Given the description of an element on the screen output the (x, y) to click on. 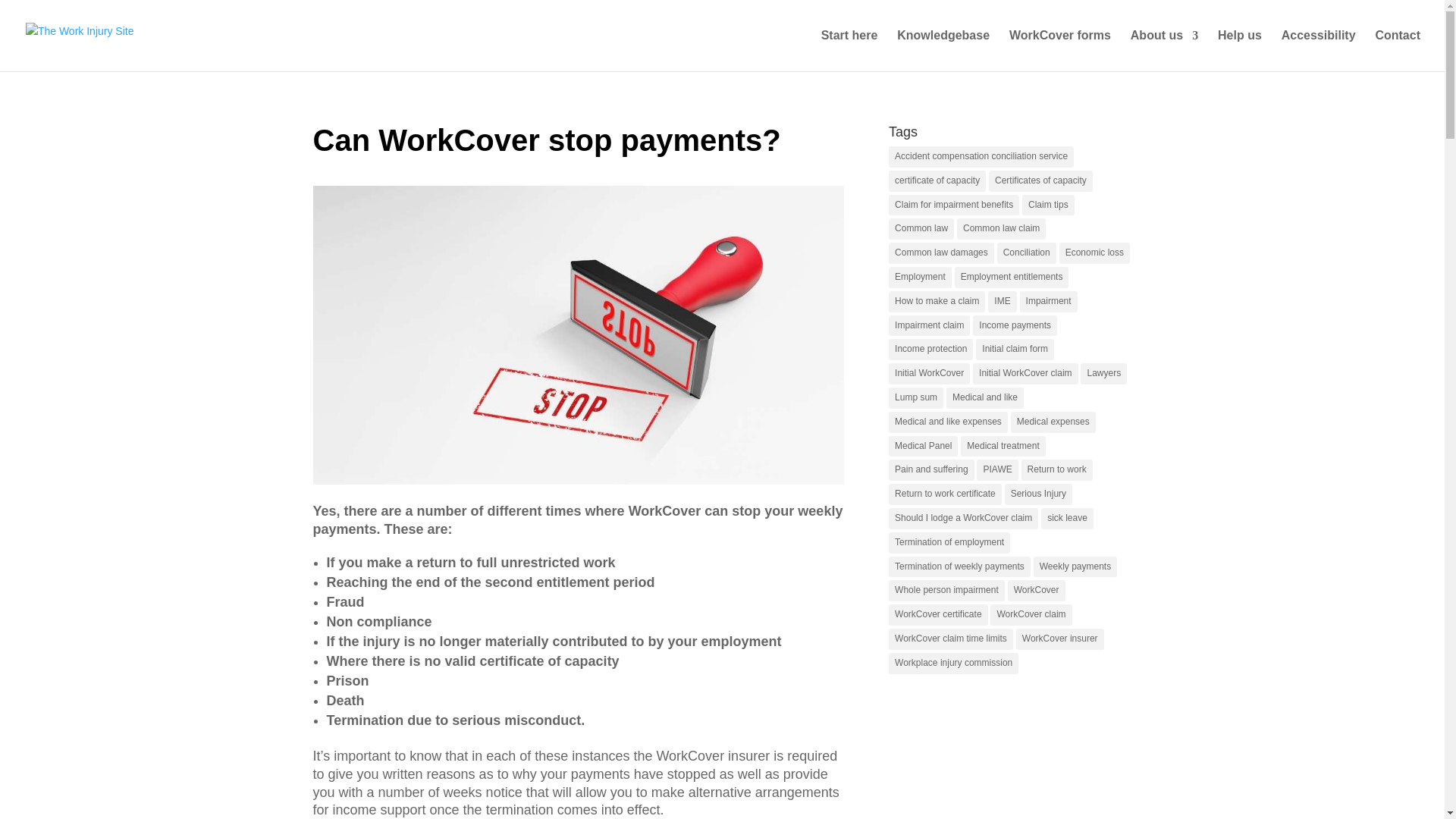
certificate of capacity (936, 180)
Claim for impairment benefits (953, 205)
Common law (920, 228)
Accident compensation conciliation service (981, 156)
Contact (1397, 50)
WorkCover forms (1059, 50)
Accessibility (1318, 50)
Employment (920, 277)
Common law damages (941, 252)
Knowledgebase (943, 50)
